Given the description of an element on the screen output the (x, y) to click on. 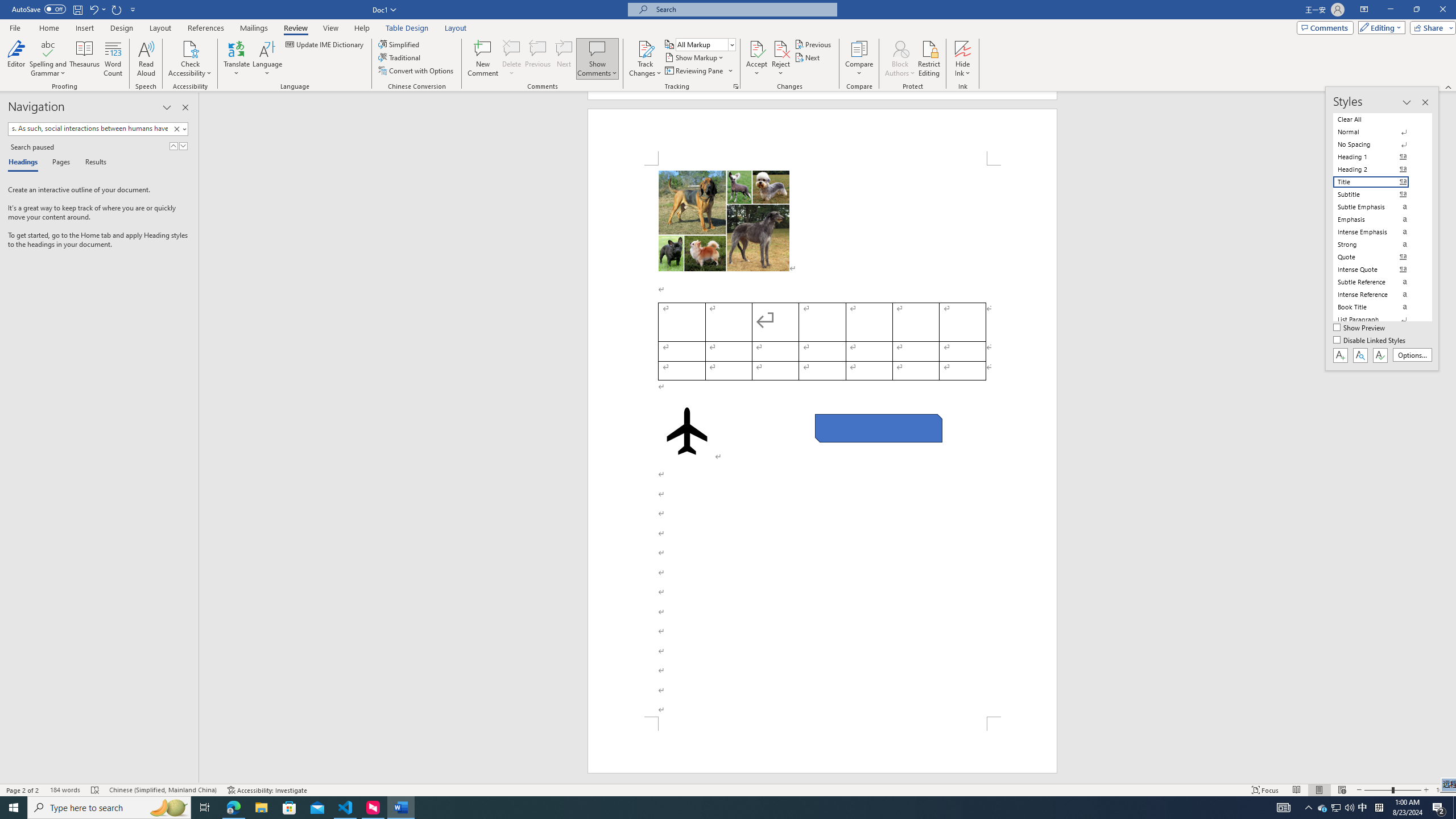
Zoom 104% (1443, 790)
List Paragraph (1377, 319)
Next Result (183, 145)
Previous Result (173, 145)
Subtle Emphasis (1377, 206)
Word Count (113, 58)
Accept and Move to Next (756, 48)
Intense Reference (1377, 294)
Emphasis (1377, 219)
